Given the description of an element on the screen output the (x, y) to click on. 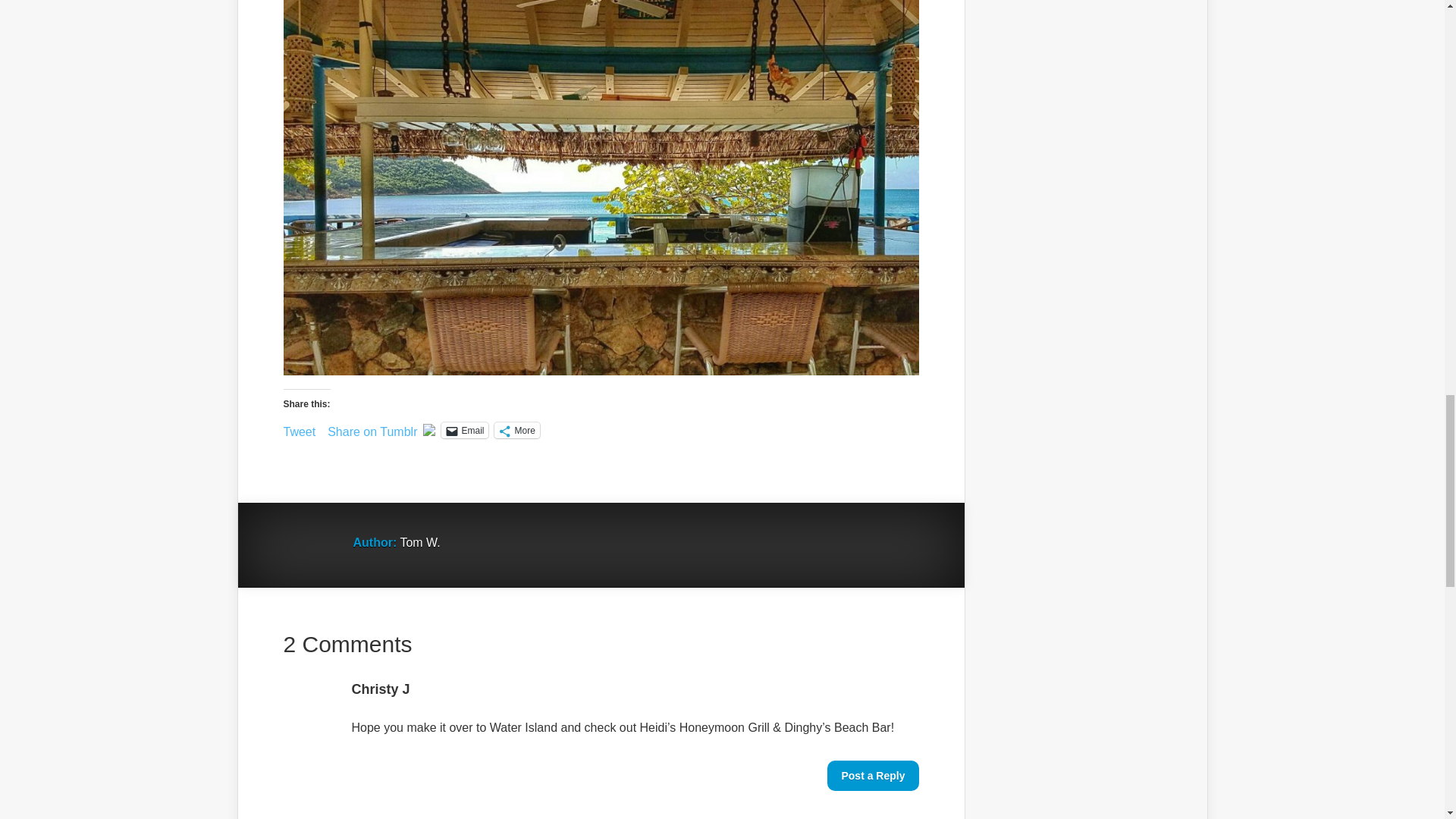
Share on Tumblr (371, 428)
Share on Tumblr (371, 428)
Email (464, 430)
Tweet (299, 428)
Click to email a link to a friend (464, 430)
More (516, 430)
